Given the description of an element on the screen output the (x, y) to click on. 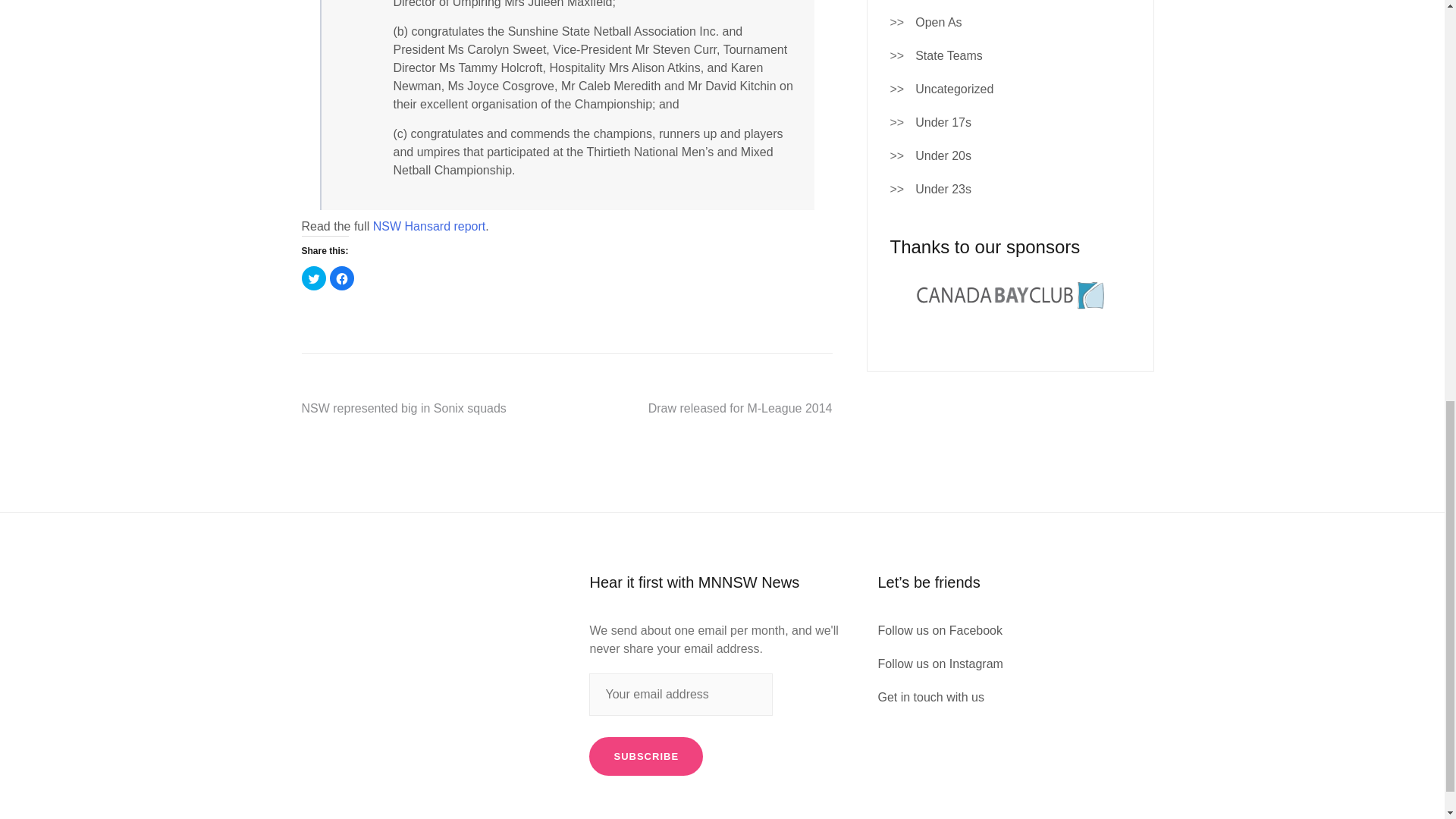
Subscribe (646, 756)
Click to share on Twitter (313, 278)
NSW Hansard report (429, 226)
Canada Bay Club Logo (1009, 294)
Draw released for M-League 2014 (739, 408)
NSW represented big in Sonix squads (403, 408)
Click to share on Facebook (341, 278)
